Given the description of an element on the screen output the (x, y) to click on. 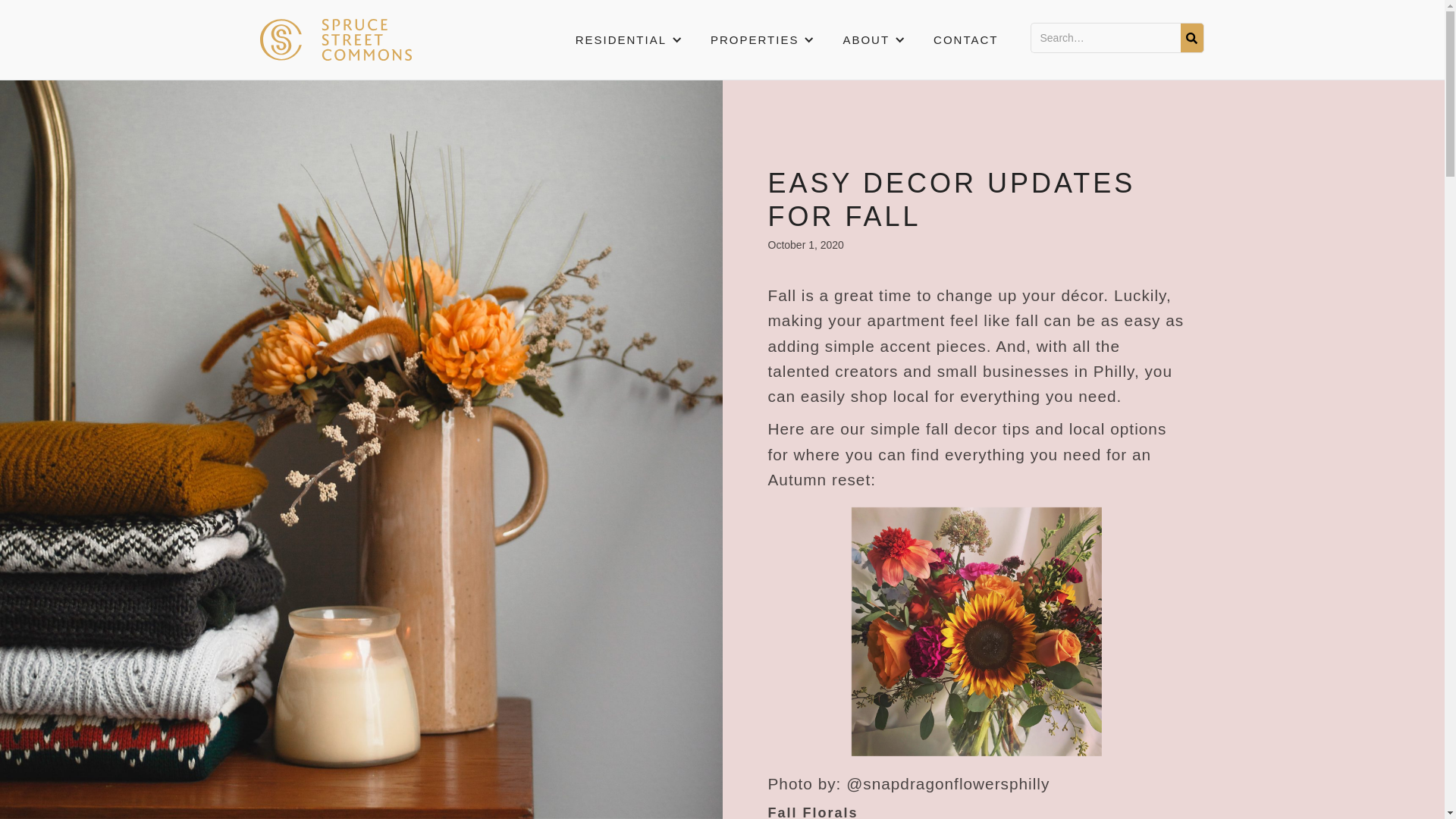
CONTACT (965, 39)
